Given the description of an element on the screen output the (x, y) to click on. 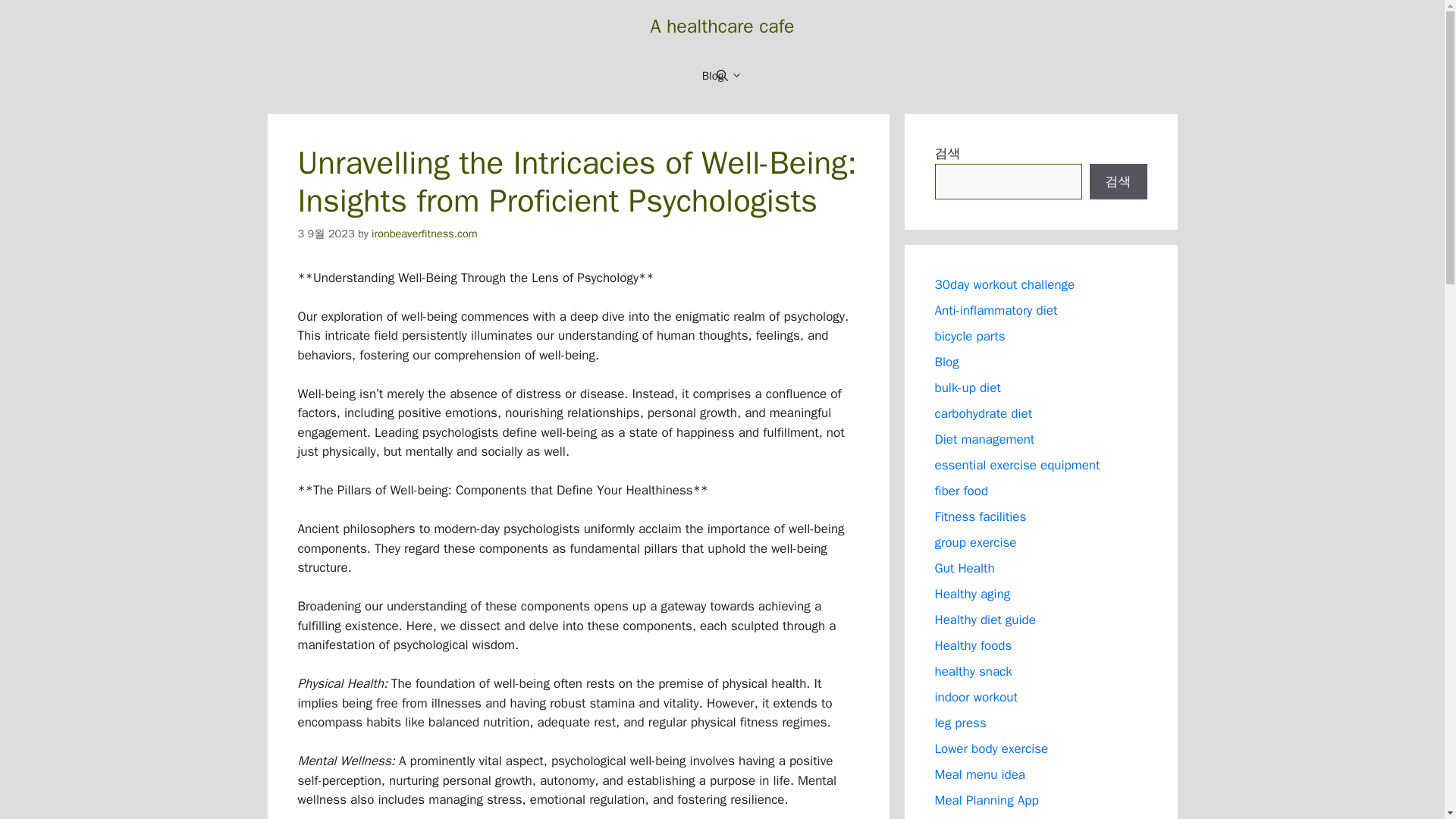
Diet management (983, 439)
leg press (959, 722)
bulk-up diet (967, 387)
View all posts by ironbeaverfitness.com (424, 233)
Gut Health (964, 568)
indoor workout (975, 697)
fiber food (961, 490)
Healthy diet guide (984, 619)
Healthy foods (972, 645)
carbohydrate diet (983, 413)
Fitness facilities (980, 516)
Healthy aging (972, 593)
30day workout challenge (1004, 284)
A healthcare cafe (721, 25)
Lower body exercise (991, 748)
